Given the description of an element on the screen output the (x, y) to click on. 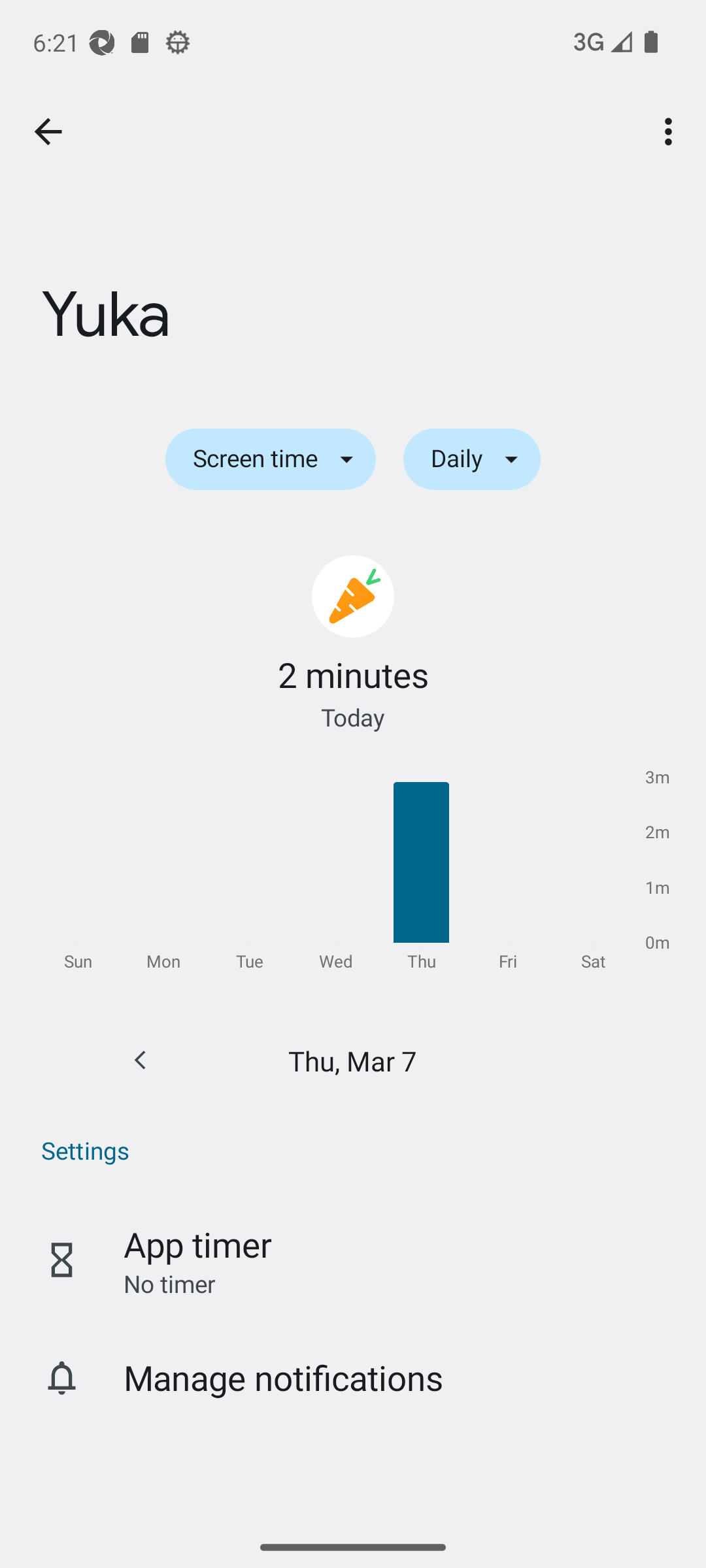
Navigate up (48, 131)
More options (671, 131)
Screen time (270, 459)
Daily (471, 459)
Go to the previous day (139, 1059)
App timer No timer (353, 1259)
Manage notifications (353, 1377)
